Given the description of an element on the screen output the (x, y) to click on. 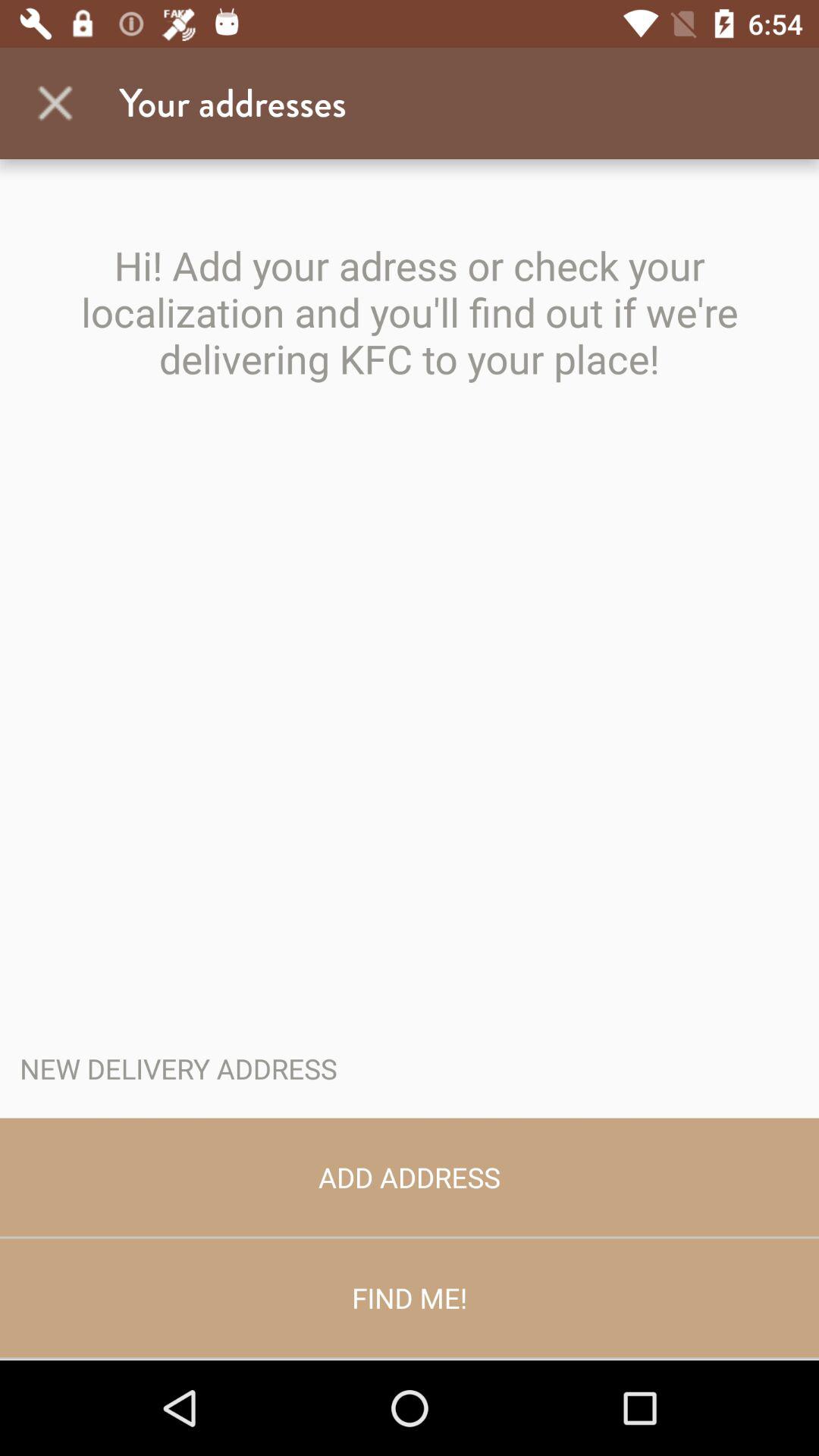
select icon to the left of the your addresses (55, 103)
